Given the description of an element on the screen output the (x, y) to click on. 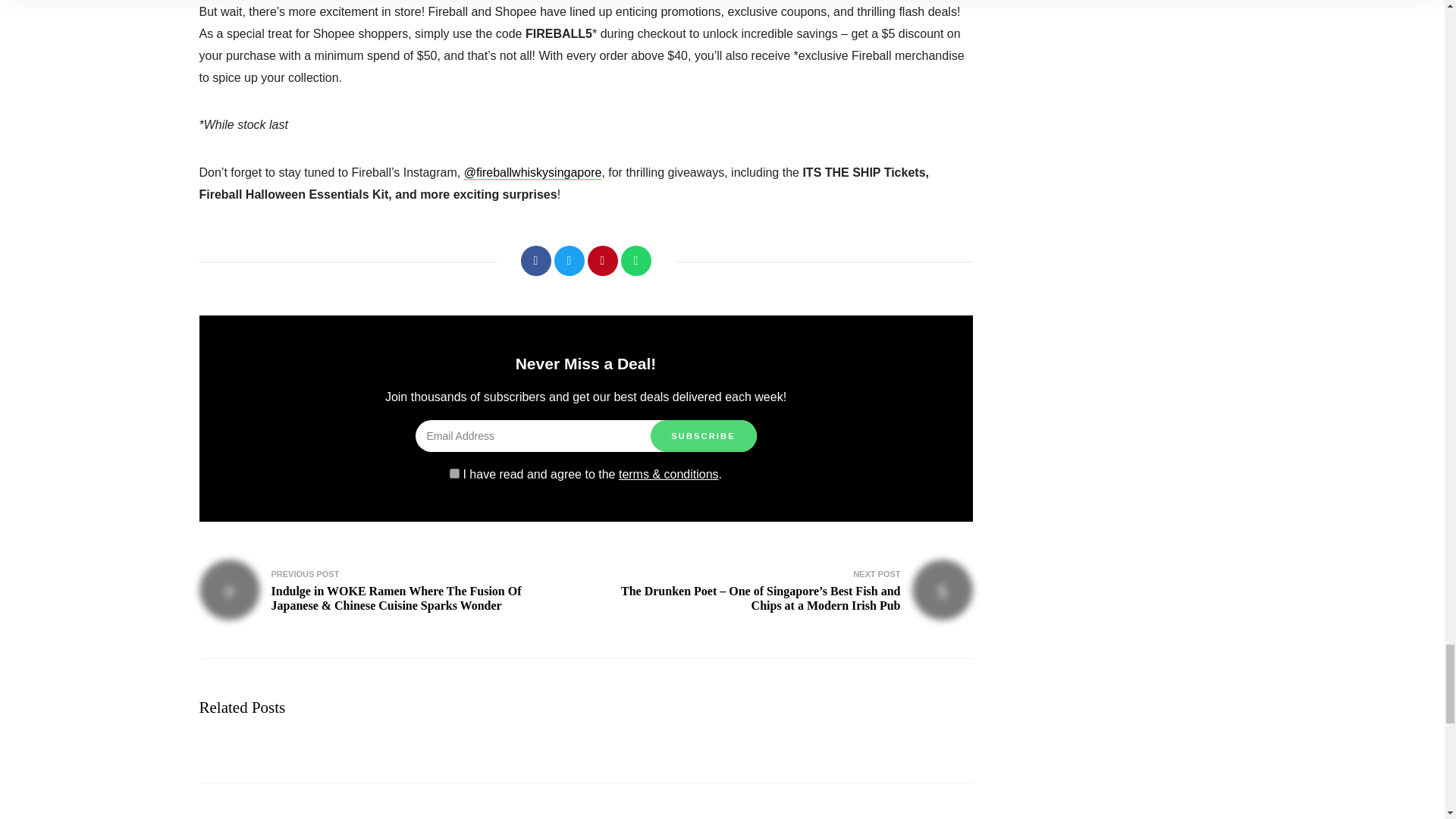
Subscribe (703, 436)
Subscribe (703, 436)
1 (454, 473)
Facebook (534, 260)
Twitter (568, 260)
WhatsApp (635, 260)
Pinterest (601, 260)
